Given the description of an element on the screen output the (x, y) to click on. 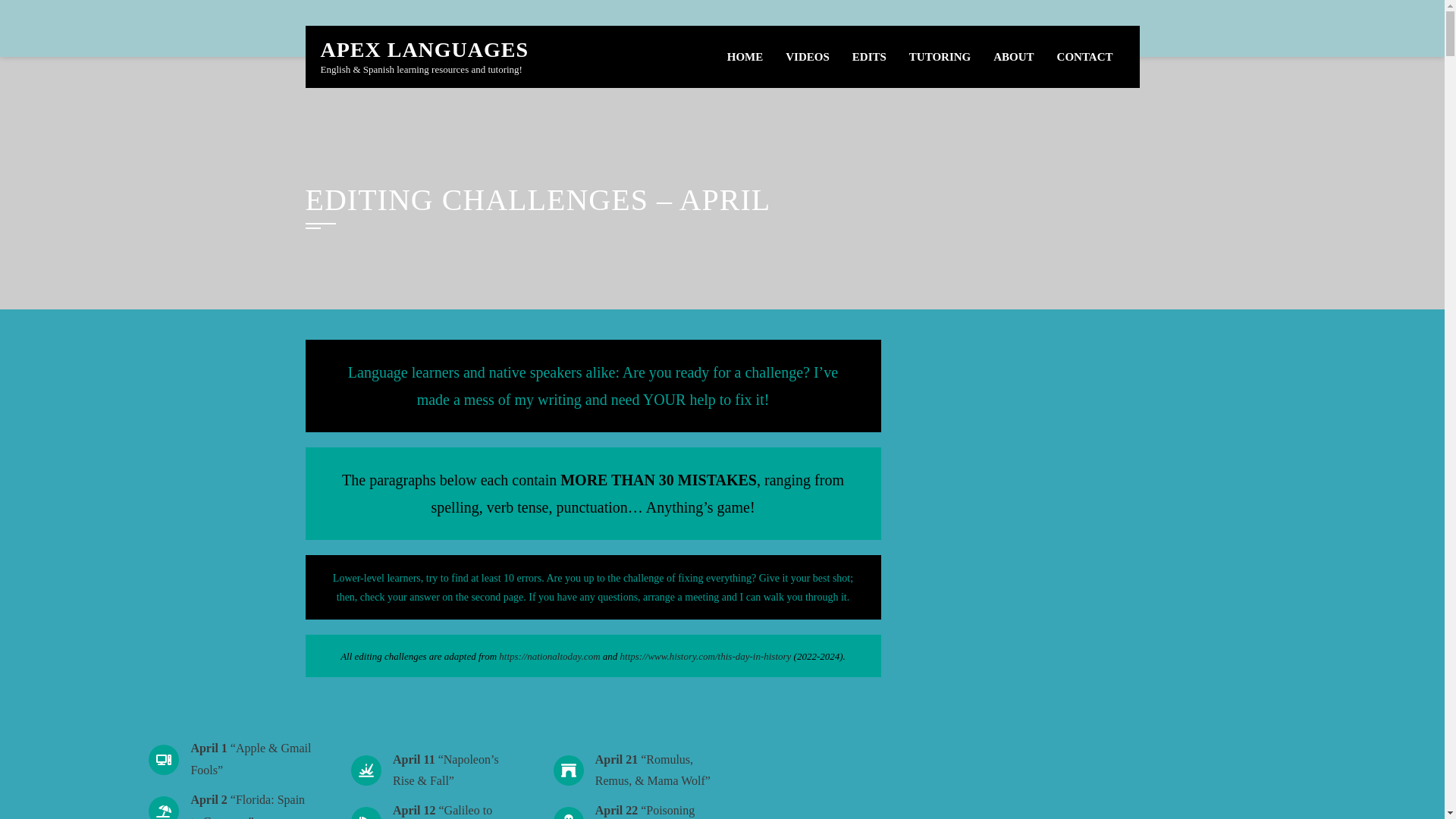
TUTORING (939, 56)
APEX LANGUAGES (424, 49)
VIDEOS (807, 56)
CONTACT (1084, 56)
ABOUT (1013, 56)
HOME (745, 56)
EDITS (869, 56)
